Given the description of an element on the screen output the (x, y) to click on. 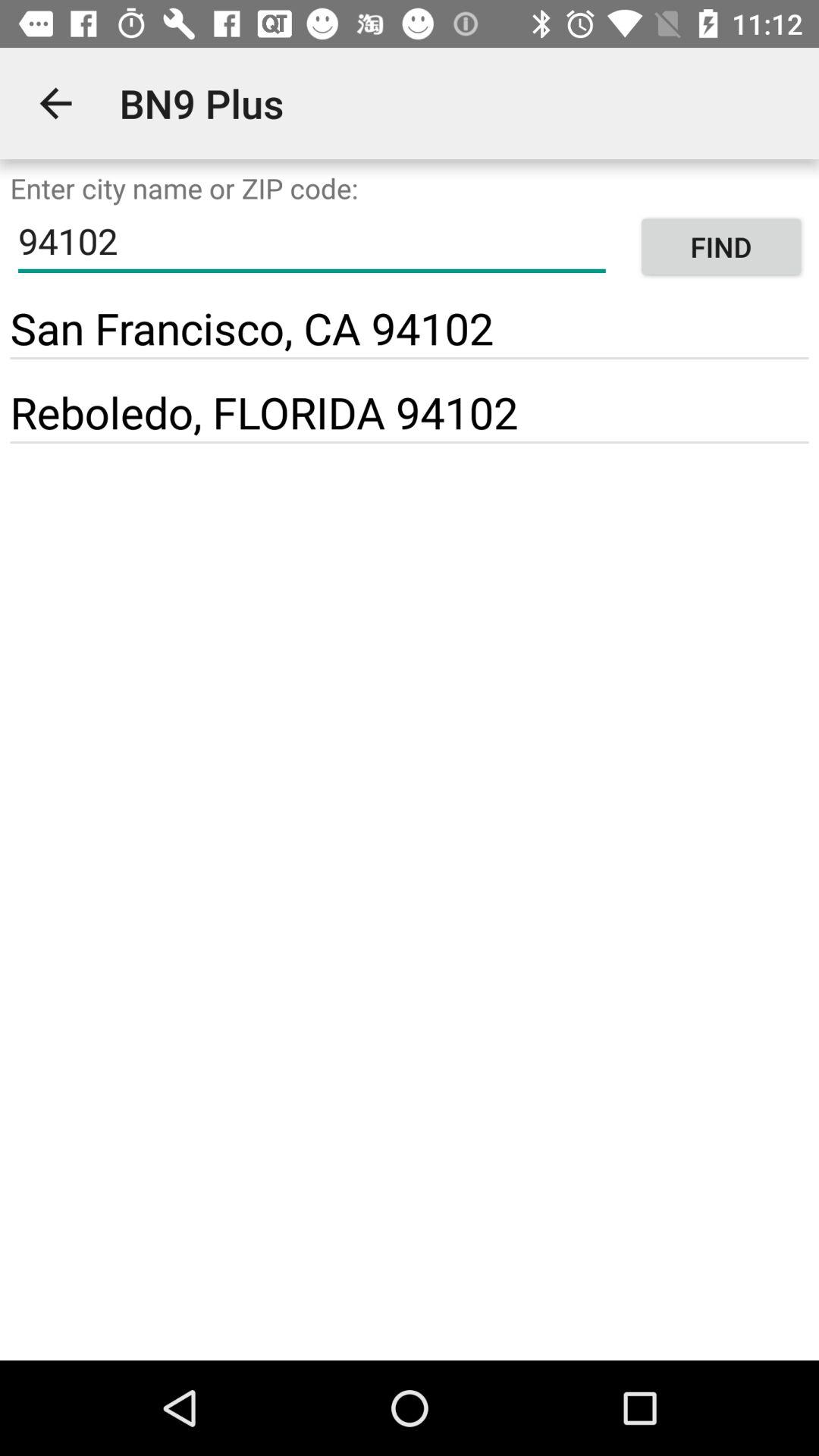
click the item at the top right corner (720, 246)
